Given the description of an element on the screen output the (x, y) to click on. 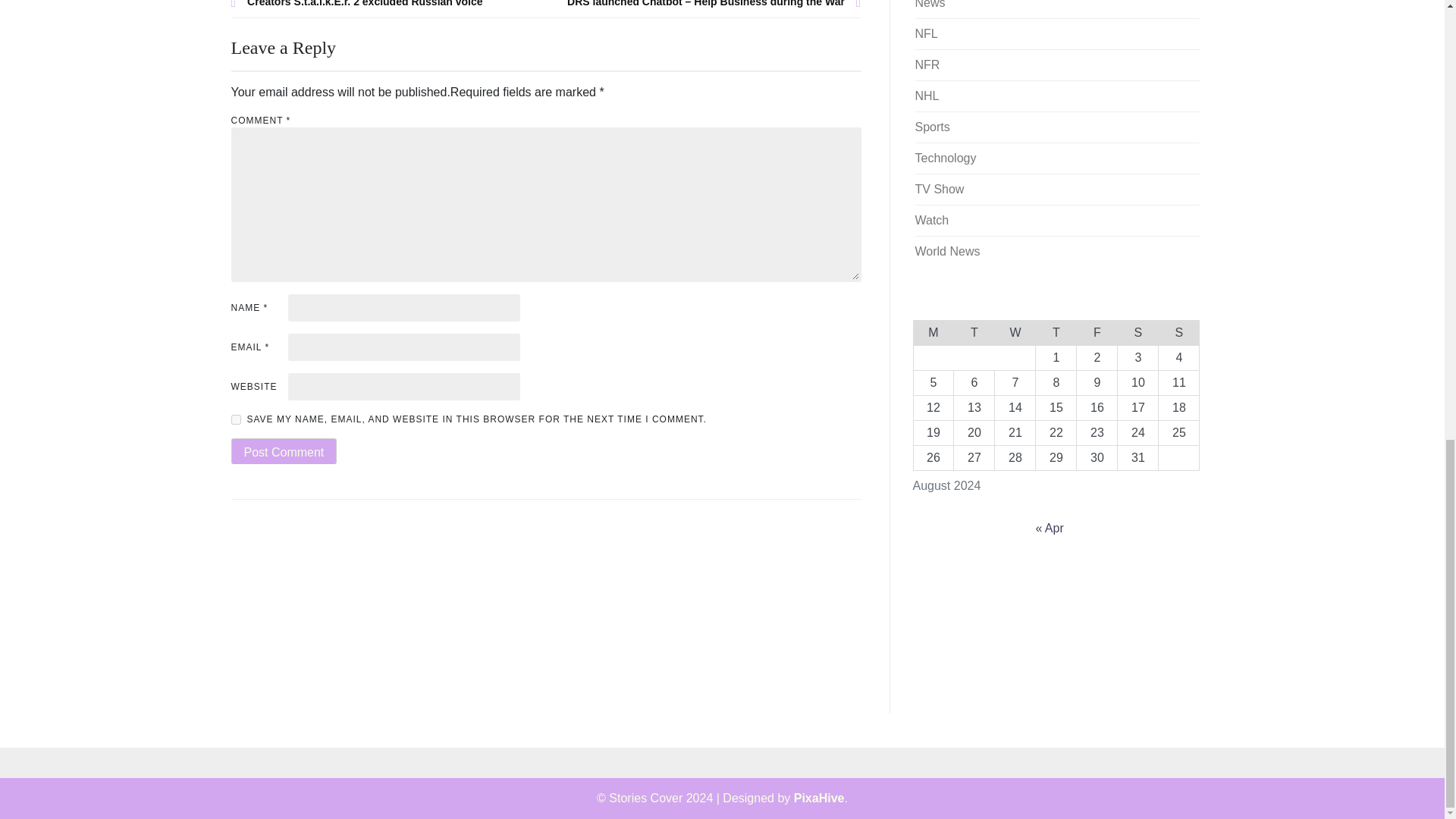
Tuesday (973, 332)
Friday (1097, 332)
Sunday (1178, 332)
Saturday (1138, 332)
Thursday (1056, 332)
Wednesday (1014, 332)
Monday (932, 332)
Post Comment (283, 451)
yes (235, 419)
Creators S.t.a.l.k.E.r. 2 excluded Russian voice (388, 4)
